Given the description of an element on the screen output the (x, y) to click on. 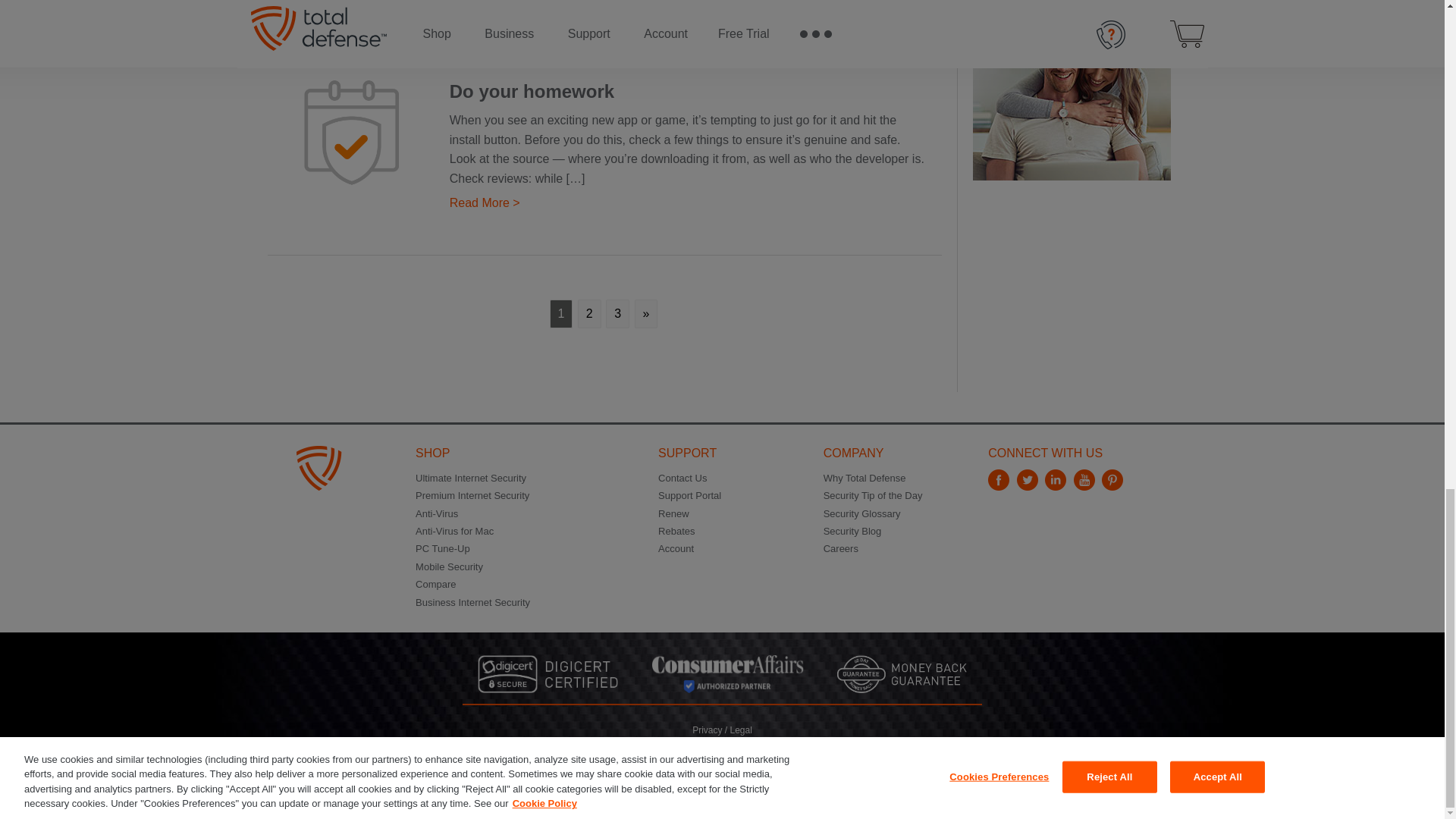
Twitter (1029, 486)
YouTube (1086, 486)
Pinterest (1114, 486)
LinkedIn (1057, 486)
Facebook (1000, 486)
